Given the description of an element on the screen output the (x, y) to click on. 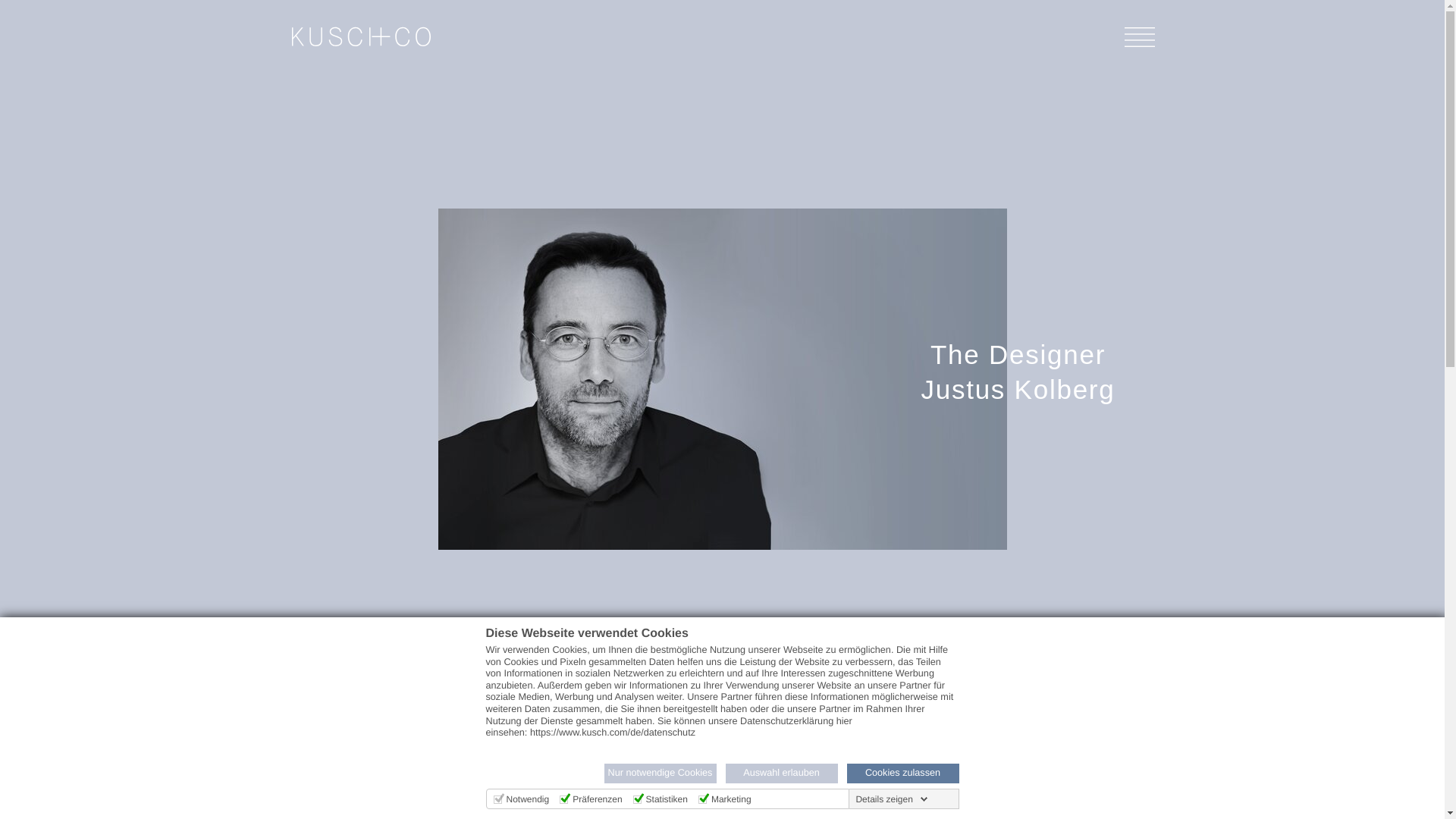
Auswahl erlauben (781, 772)
Details zeigen (890, 799)
Cookies zulassen (901, 772)
Nur notwendige Cookies (660, 772)
